Given the description of an element on the screen output the (x, y) to click on. 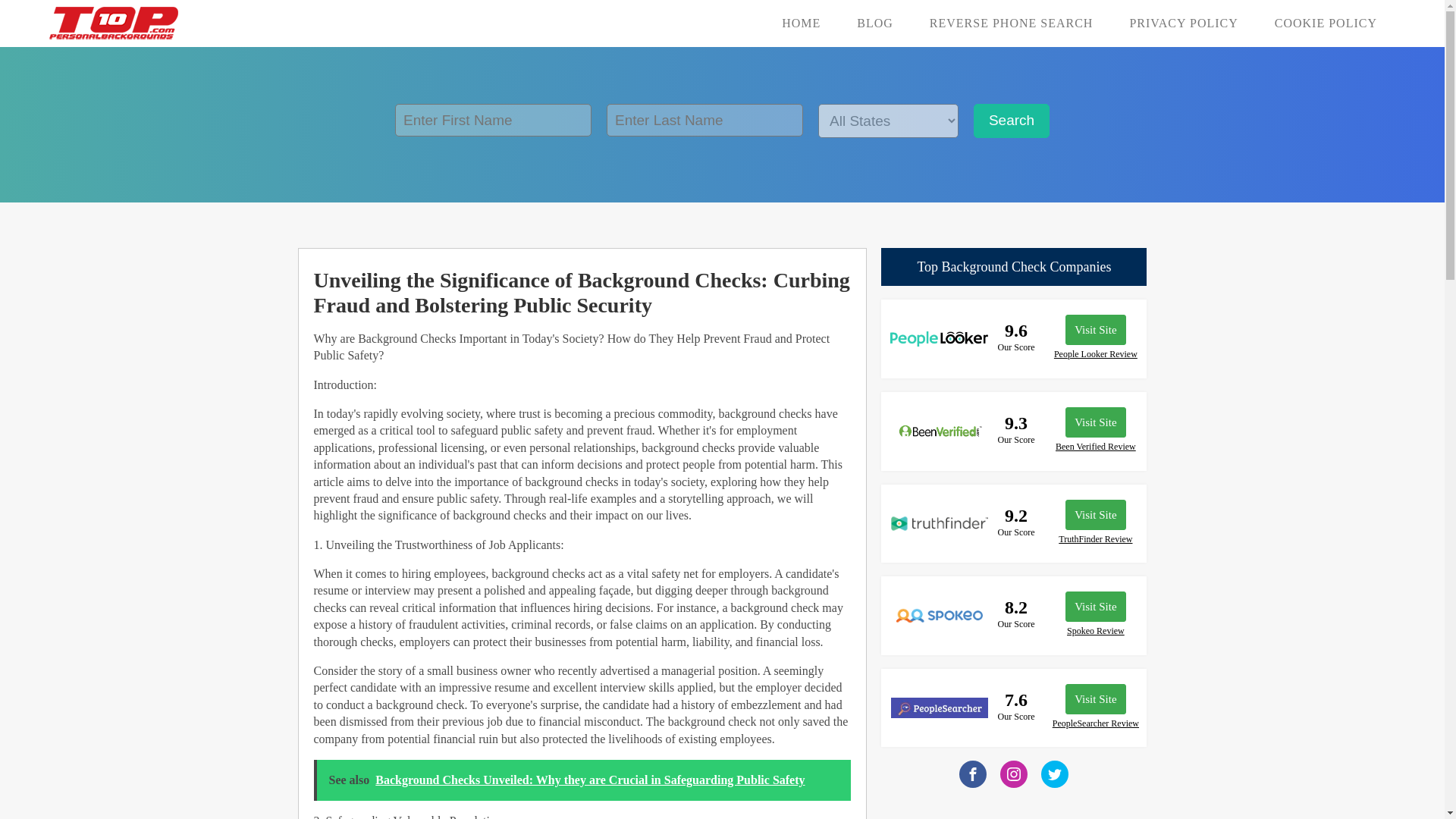
Spokeo Review (1095, 631)
Visit Site (1095, 514)
Visit Site (1095, 606)
HOME (800, 23)
Been Verified Review (1095, 446)
Search (1011, 121)
Visit Site (1095, 698)
PeopleSearcher Review (1095, 723)
People Looker Review (1095, 354)
